Given the description of an element on the screen output the (x, y) to click on. 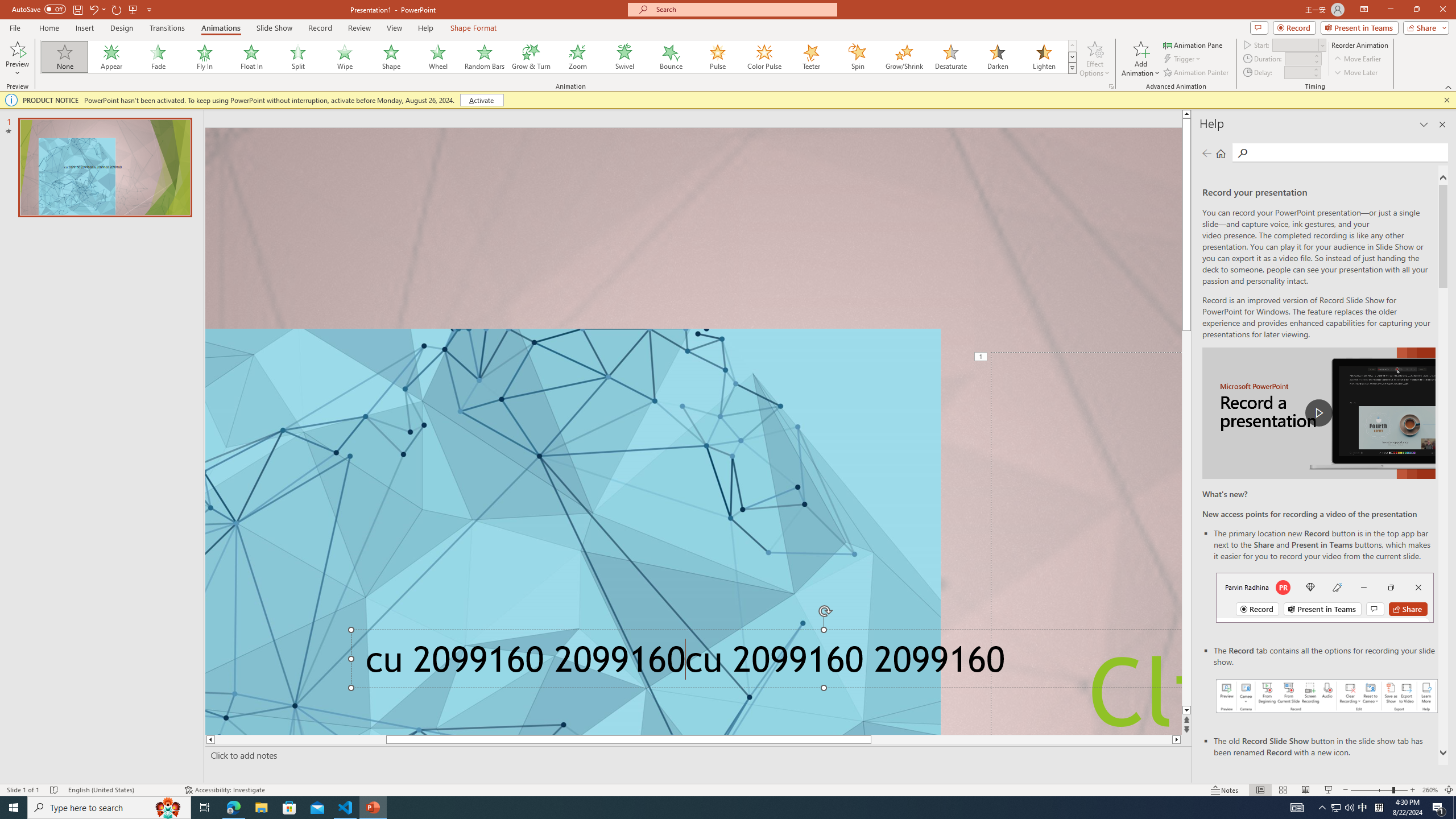
Move Earlier (1357, 58)
Less (1315, 75)
Pulse (717, 56)
AutomationID: AnimationGallery (558, 56)
